Given the description of an element on the screen output the (x, y) to click on. 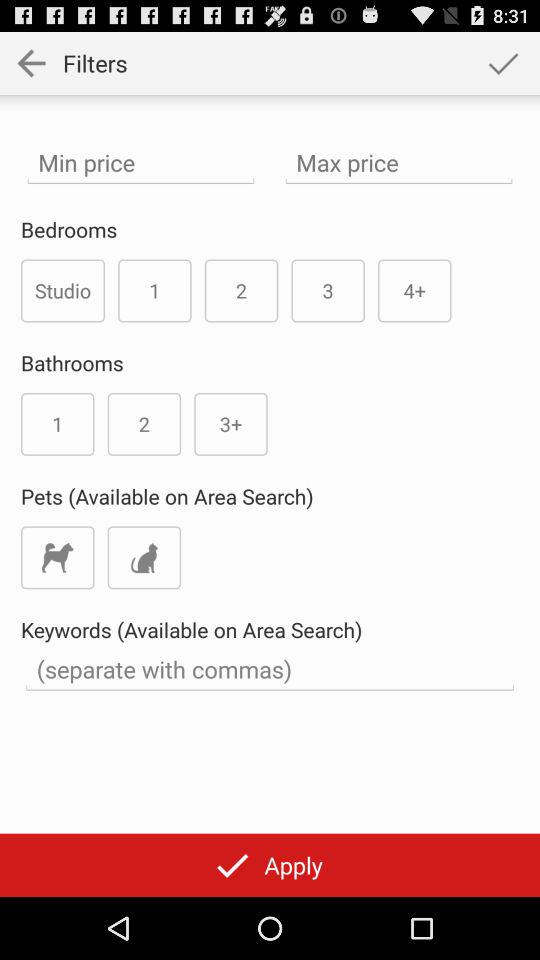
select dog (57, 557)
